Given the description of an element on the screen output the (x, y) to click on. 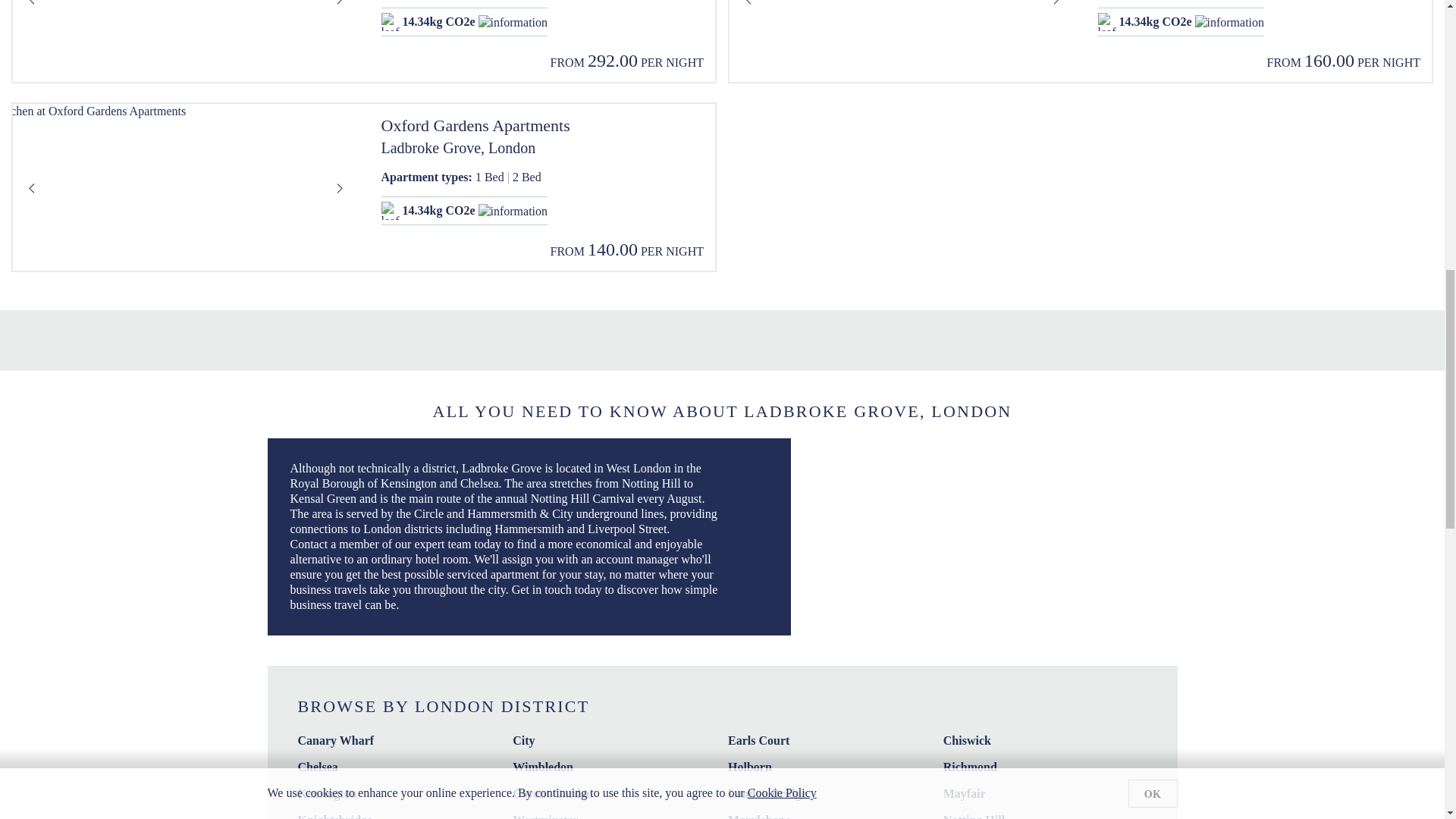
Oxford Gardens Apartments (541, 126)
